Given the description of an element on the screen output the (x, y) to click on. 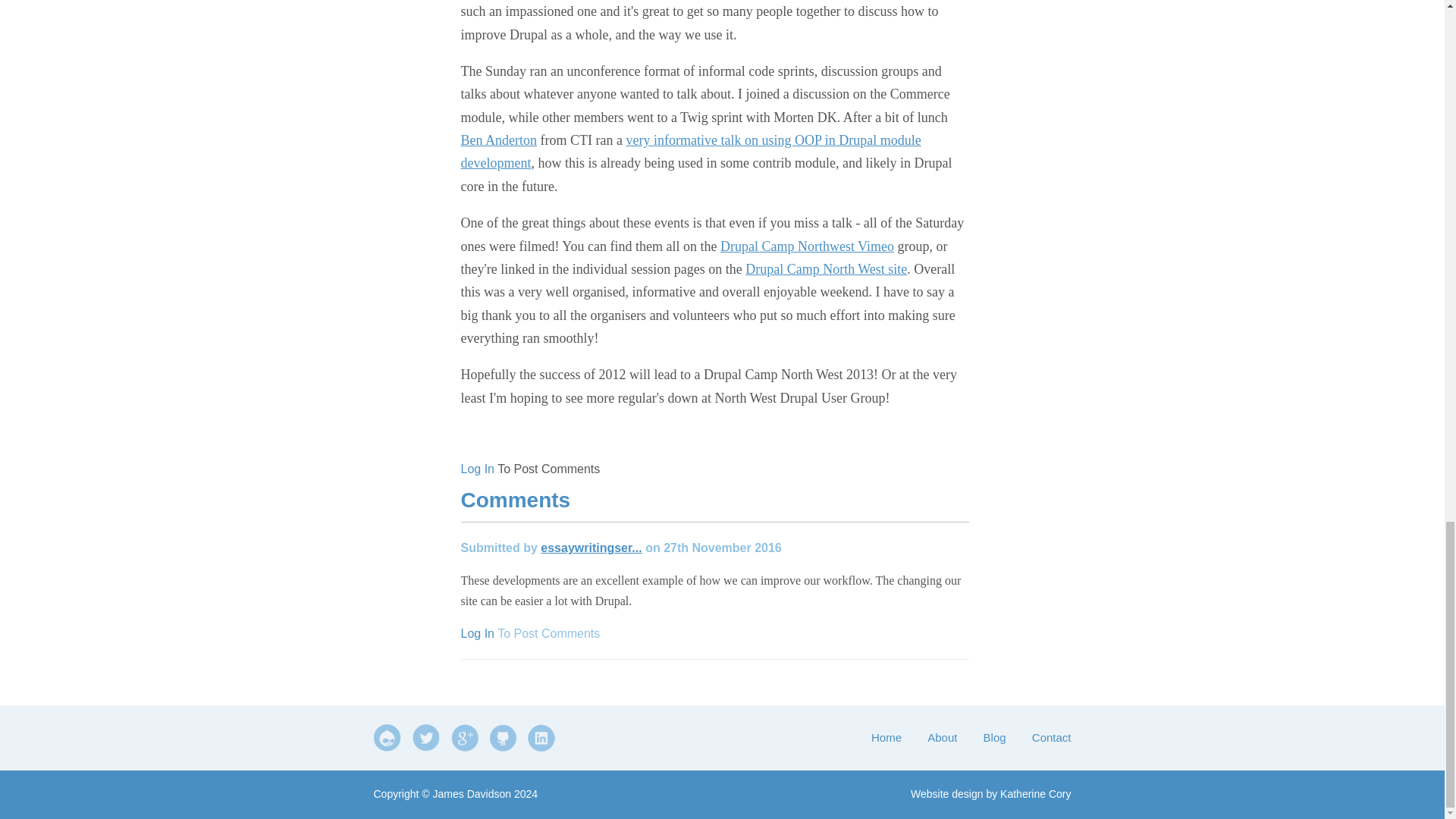
Drupal (487, 434)
Drupal Camp NW (573, 434)
Drupal Camp Northwest Vimeo (806, 246)
NW Drupal User Group (709, 434)
Drupal Camp North West site (826, 268)
Ben Anderton (499, 140)
Log In (478, 468)
